Given the description of an element on the screen output the (x, y) to click on. 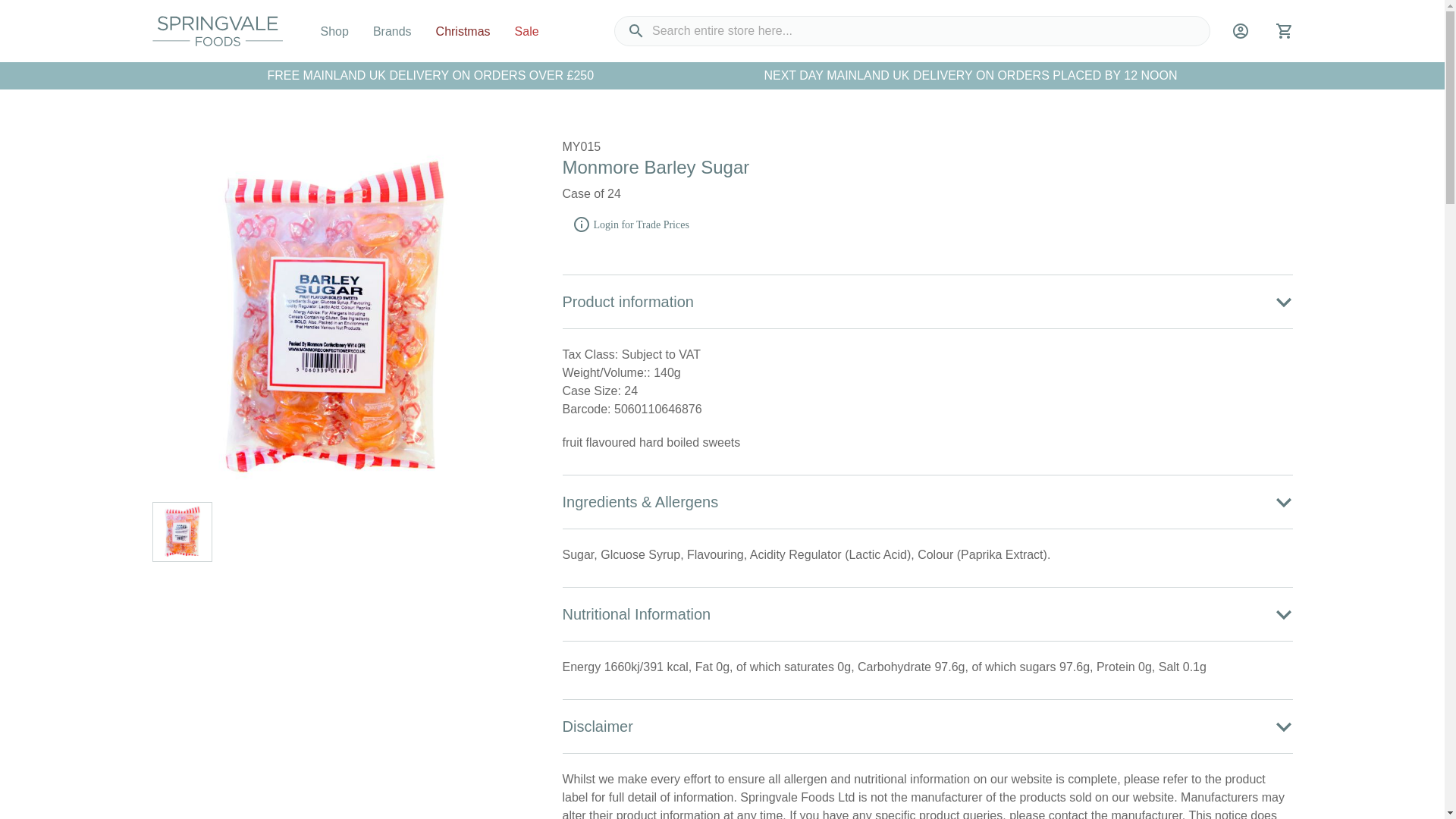
Springvale Foods (217, 30)
Account (1240, 36)
Shop (333, 31)
Basket (1283, 36)
